Given the description of an element on the screen output the (x, y) to click on. 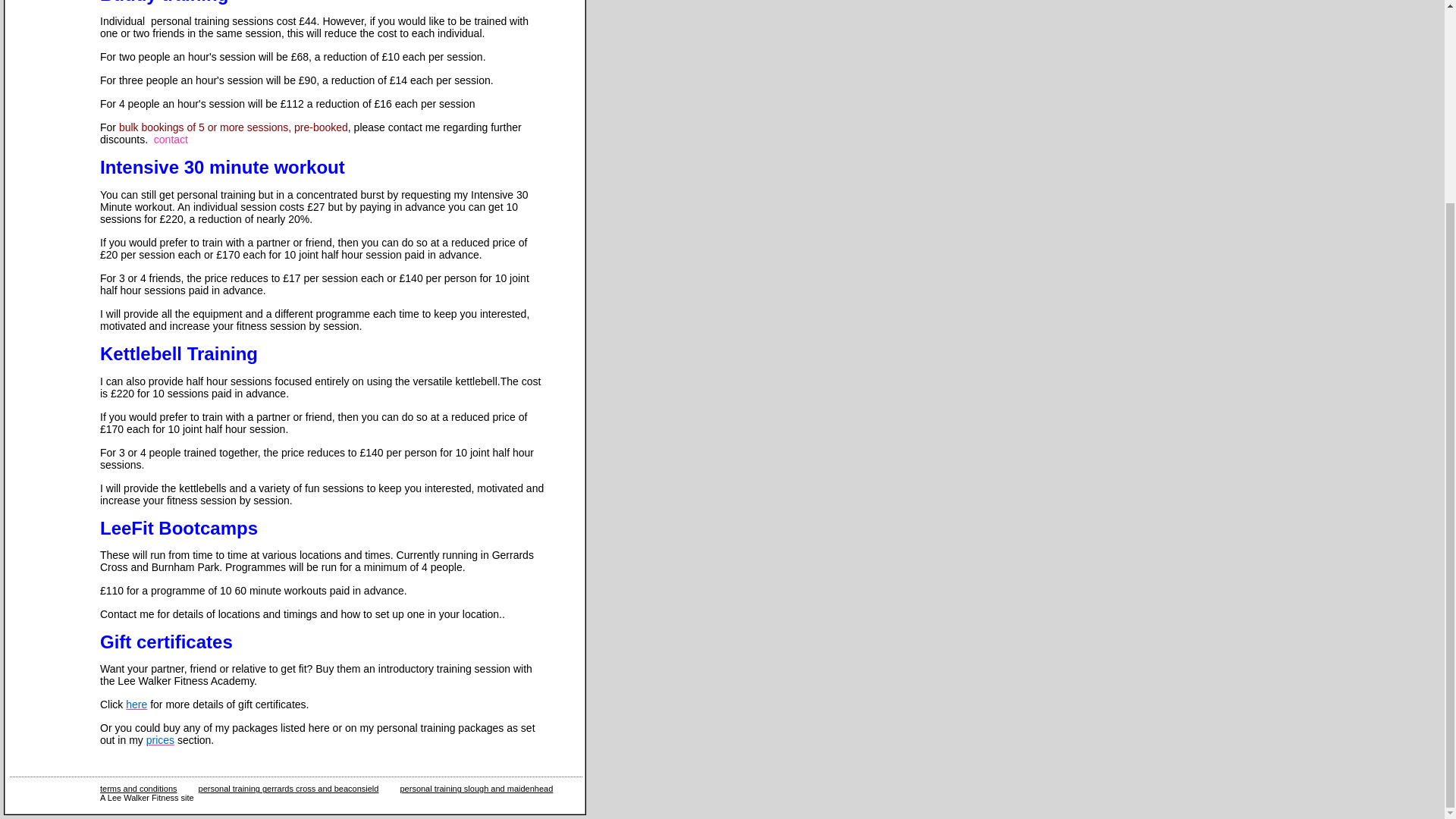
here (136, 704)
personal training gerrards cross and beaconsield (288, 788)
prices (160, 739)
terms and conditions (138, 788)
contact (170, 139)
personal training slough and maidenhead (475, 788)
